Given the description of an element on the screen output the (x, y) to click on. 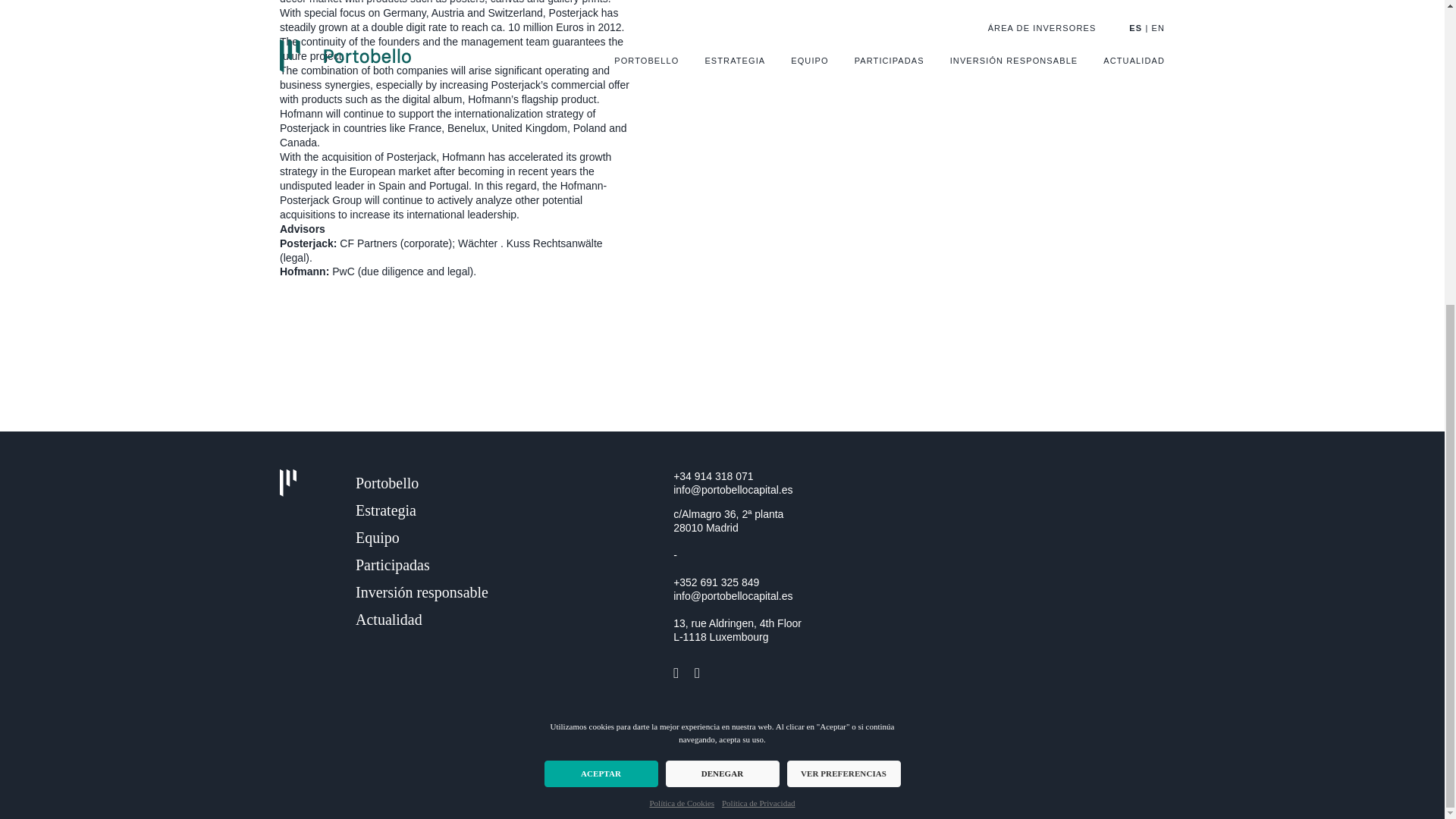
DENEGAR (721, 294)
VER PREFERENCIAS (844, 294)
Equipo (376, 537)
Portobello (387, 483)
ACEPTAR (601, 294)
Estrategia (385, 510)
